Given the description of an element on the screen output the (x, y) to click on. 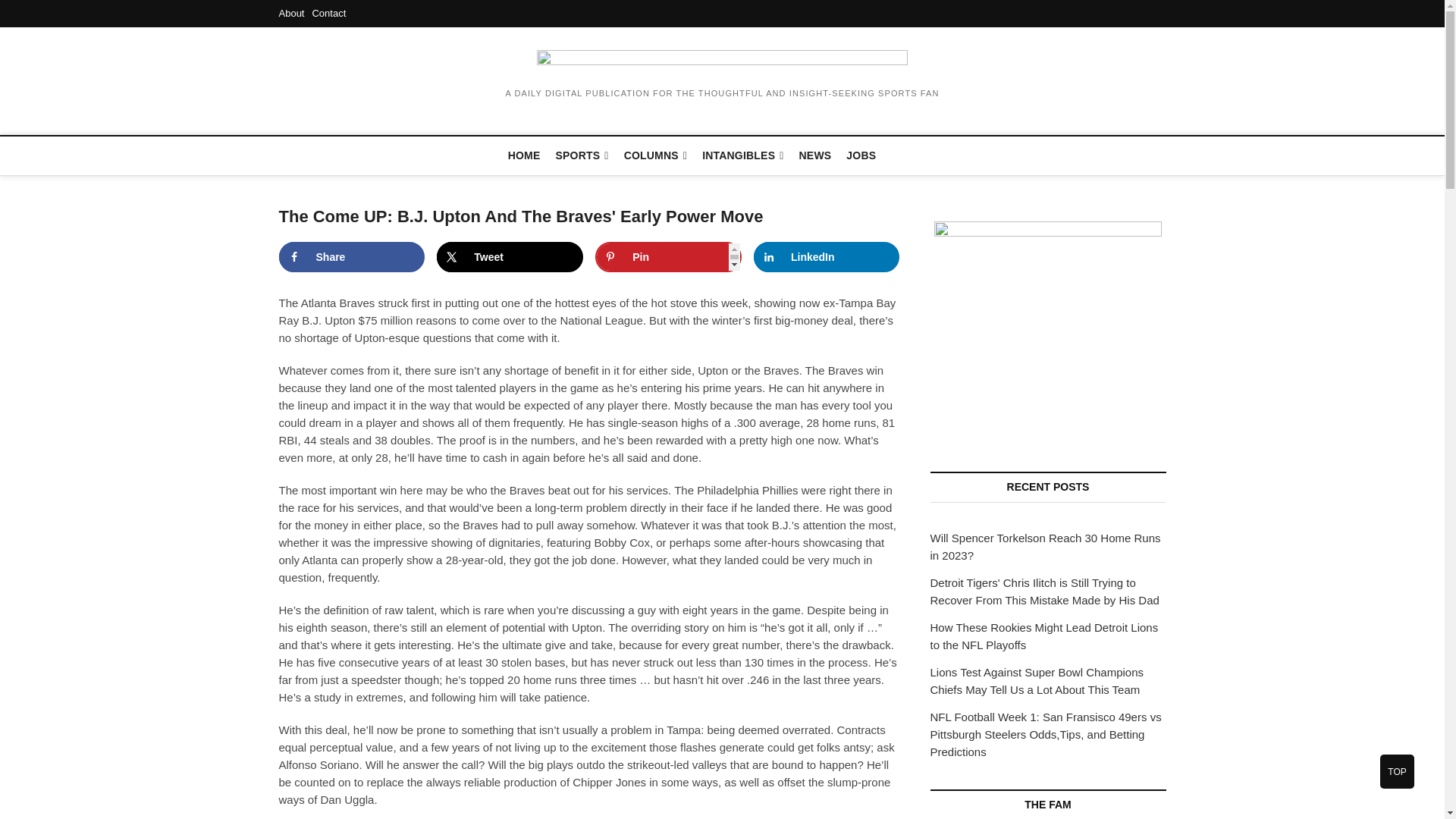
Contact (328, 12)
Share (352, 256)
INTANGIBLES (742, 155)
About (291, 12)
Share on X (509, 256)
JOBS (860, 155)
HOME (524, 155)
COLUMNS (655, 155)
Save to Pinterest (668, 256)
SPORTS (581, 155)
Tweet (509, 256)
Share on Facebook (352, 256)
Share on LinkedIn (826, 256)
NEWS (816, 155)
